Given the description of an element on the screen output the (x, y) to click on. 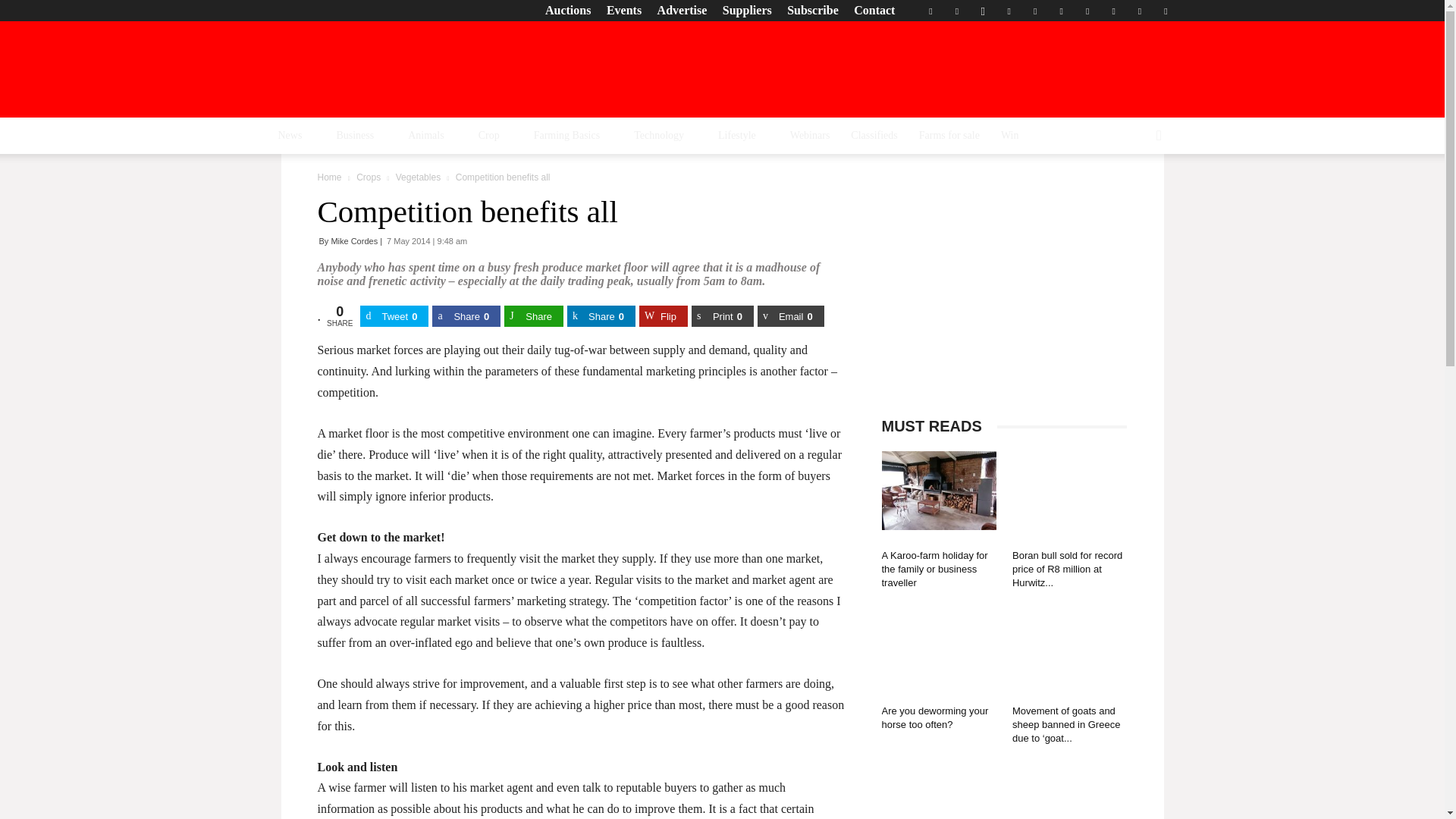
Pinterest (1034, 10)
TikTok (1087, 10)
Flipboard (956, 10)
Linkedin (1008, 10)
Instagram (982, 10)
Facebook (930, 10)
RSS (1061, 10)
